Given the description of an element on the screen output the (x, y) to click on. 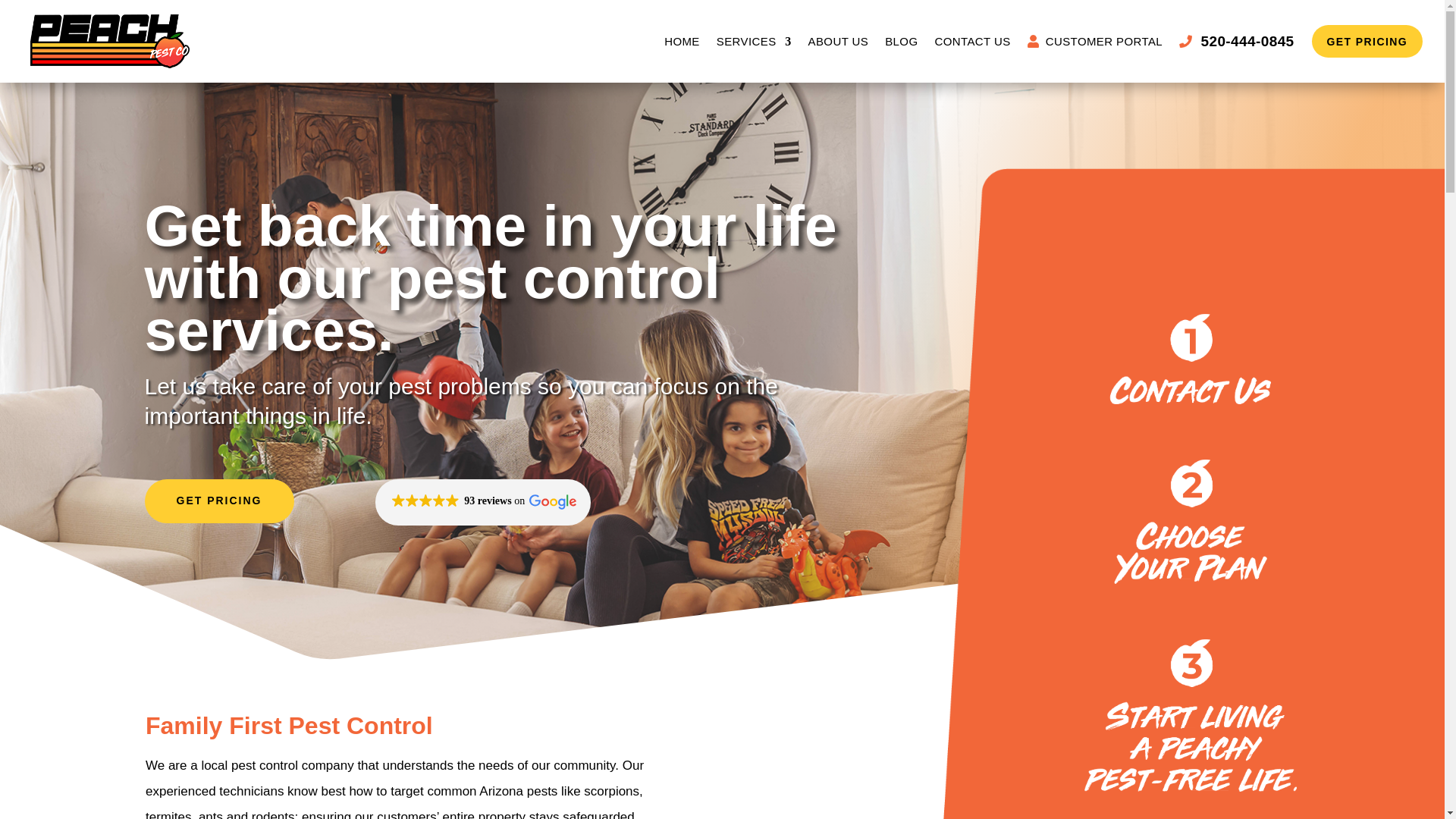
peach-process-02b (1190, 521)
SERVICES (754, 41)
CONTACT US (972, 41)
ABOUT US (838, 41)
GET PRICING (1366, 41)
93 reviews on (483, 502)
peach-process-03 (1190, 715)
peach-process-01b (1190, 358)
  520-444-0845 (1236, 41)
  CUSTOMER PORTAL (1095, 41)
GET PRICING (219, 501)
